Given the description of an element on the screen output the (x, y) to click on. 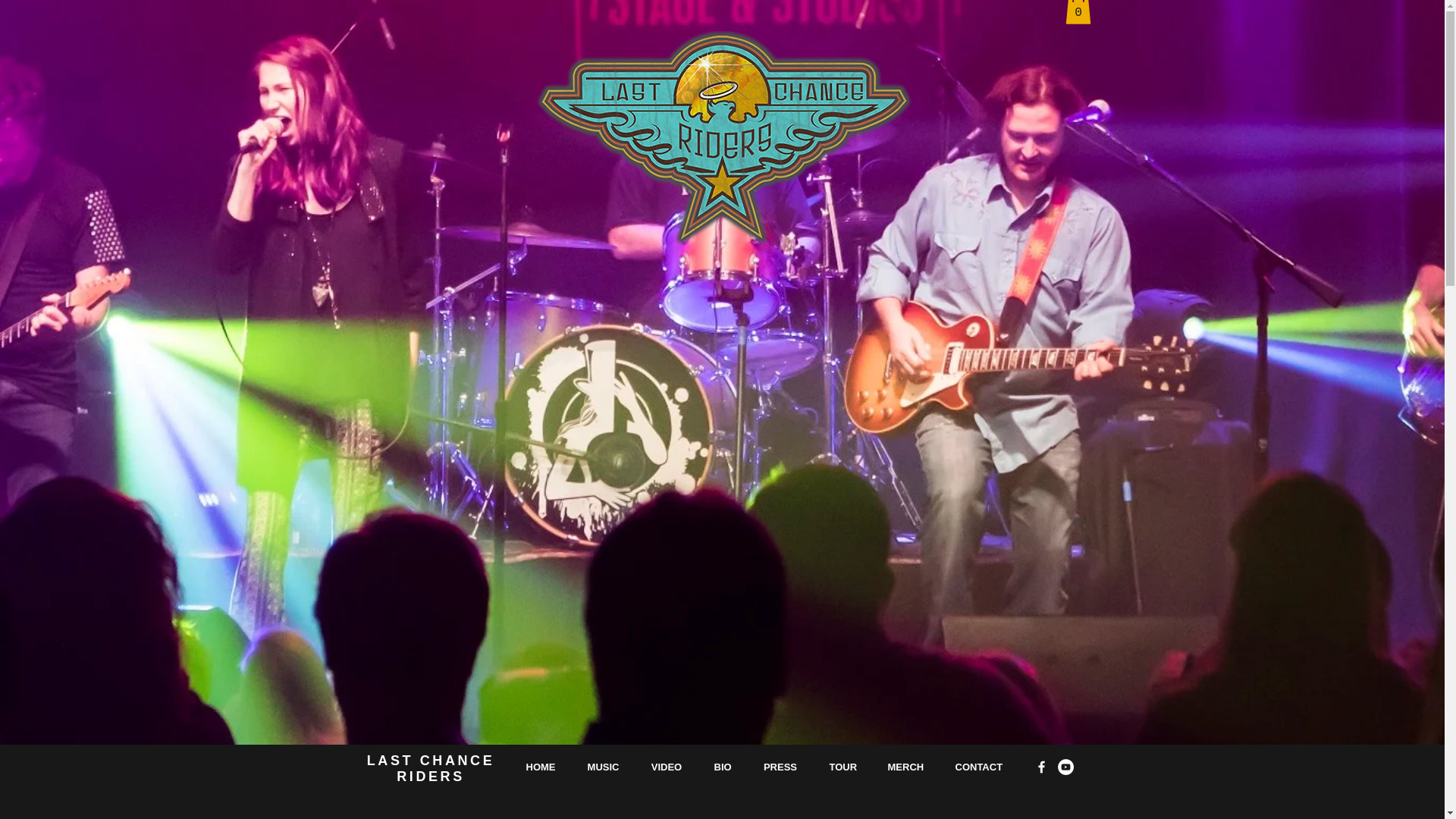
MUSIC (603, 766)
TOUR (841, 766)
External YouTube (709, 481)
External YouTube (709, 734)
0 (1077, 12)
CONTACT (977, 766)
0 (1077, 11)
BIO (721, 766)
LAST CHANCE RIDERS (430, 767)
HOME (539, 766)
MERCH (905, 766)
VIDEO (666, 766)
PRESS (780, 766)
